Given the description of an element on the screen output the (x, y) to click on. 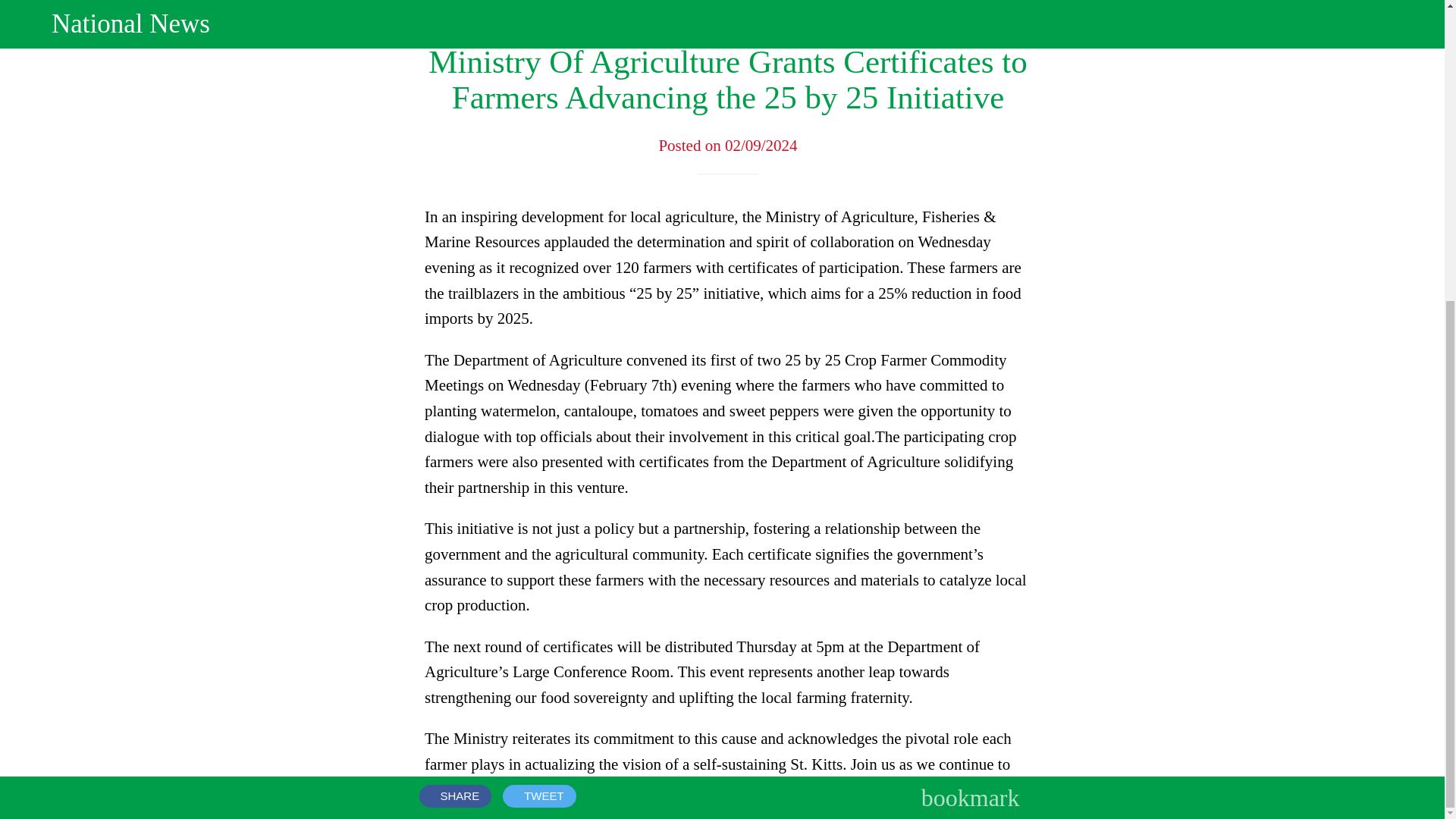
bookmark (970, 328)
TWEET (539, 326)
SHARE (455, 326)
